Given the description of an element on the screen output the (x, y) to click on. 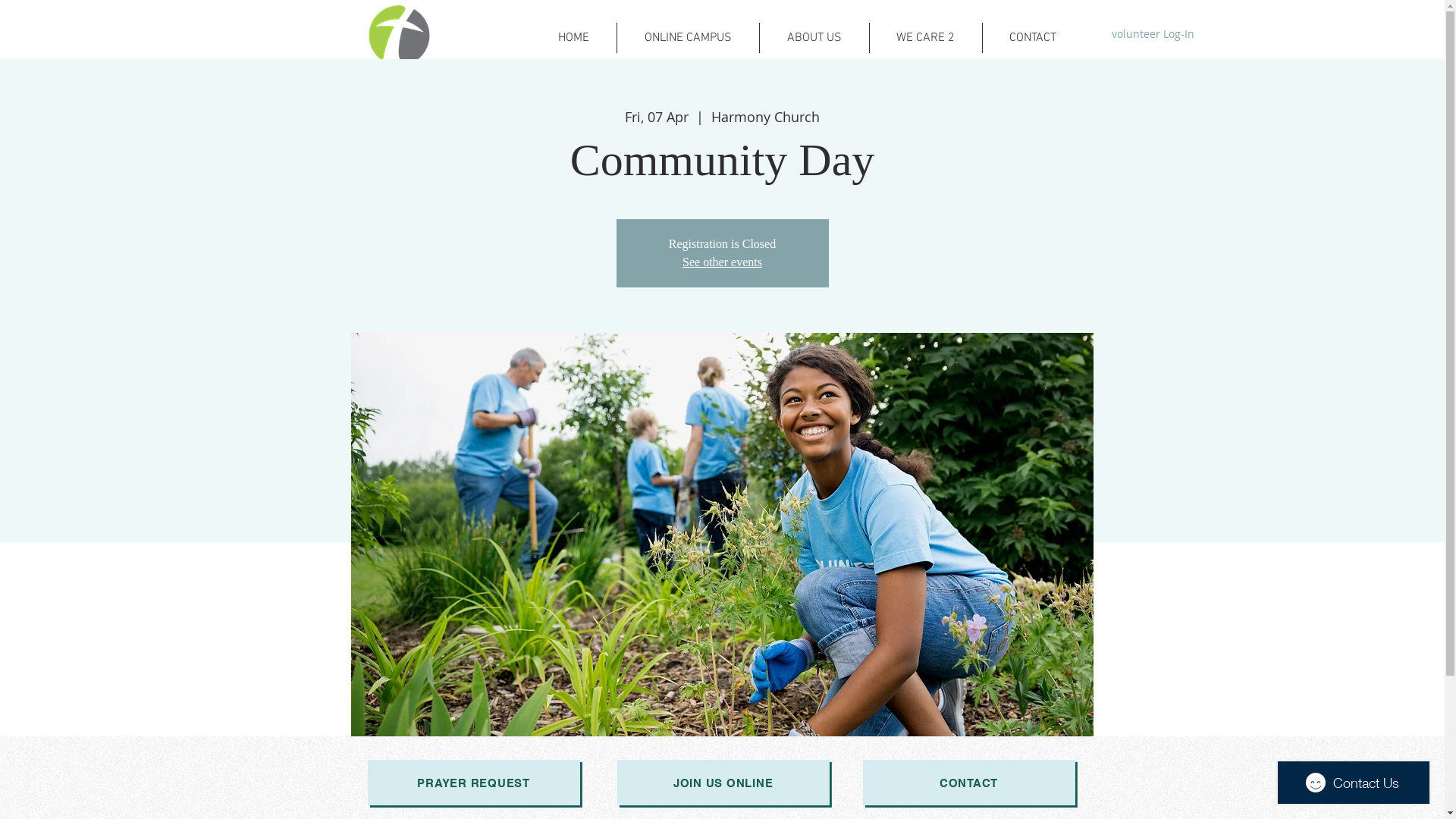
PRAYER REQUEST Element type: text (473, 782)
JOIN US ONLINE Element type: text (723, 782)
volunteer Log-In Element type: text (1146, 33)
CONTACT Element type: text (1032, 37)
HOME Element type: text (573, 37)
WE CARE 2 Element type: text (925, 37)
See other events Element type: text (722, 261)
ONLINE CAMPUS Element type: text (688, 37)
ABOUT US Element type: text (814, 37)
CONTACT Element type: text (968, 782)
